Given the description of an element on the screen output the (x, y) to click on. 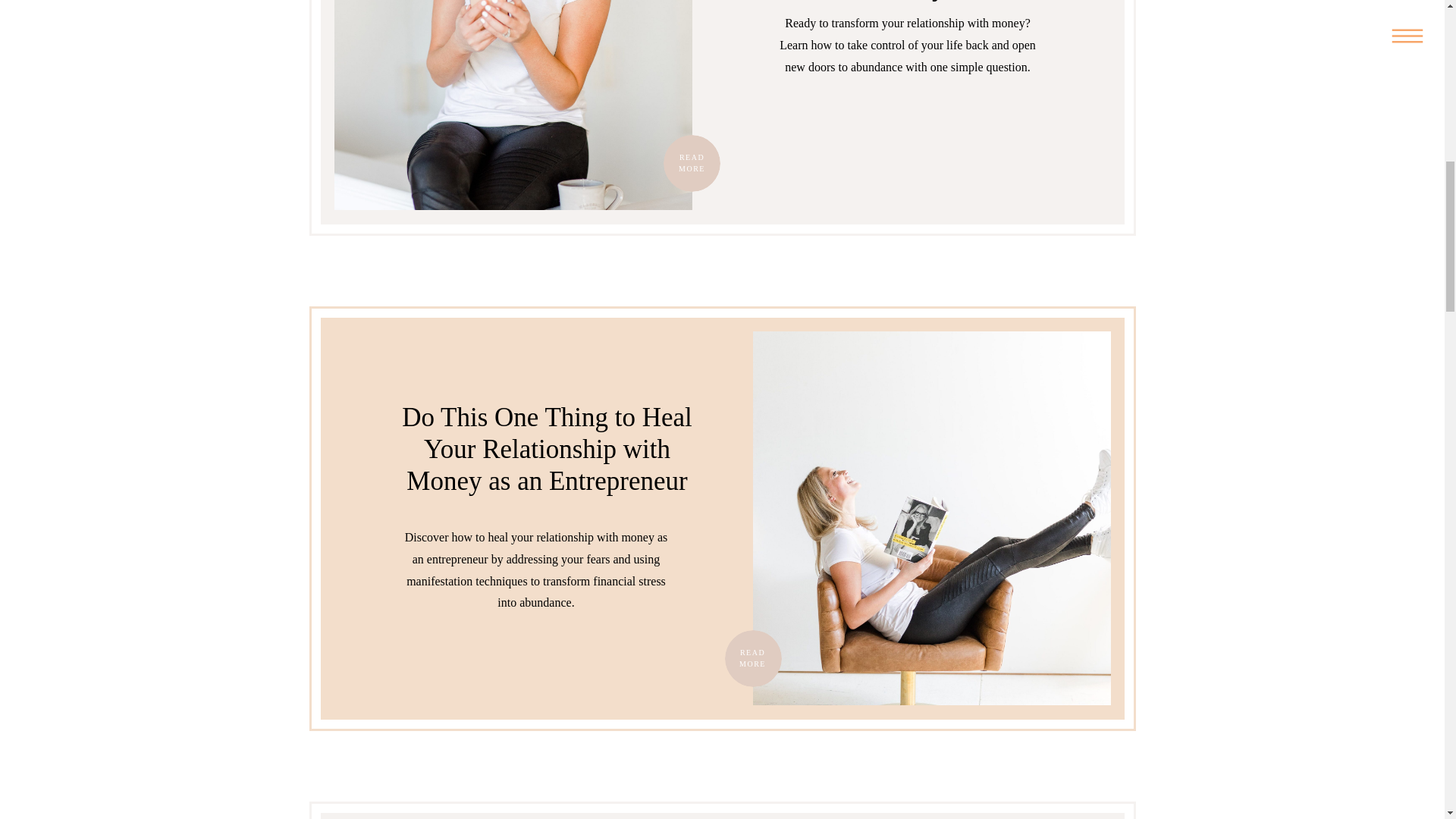
What The Universe Really Wants You To Know About Money (512, 104)
READ MORE (752, 658)
What The Universe Really Wants You To Know About Money (691, 163)
READ MORE (691, 163)
What The Universe Really Wants You To Know About Money (690, 163)
